Given the description of an element on the screen output the (x, y) to click on. 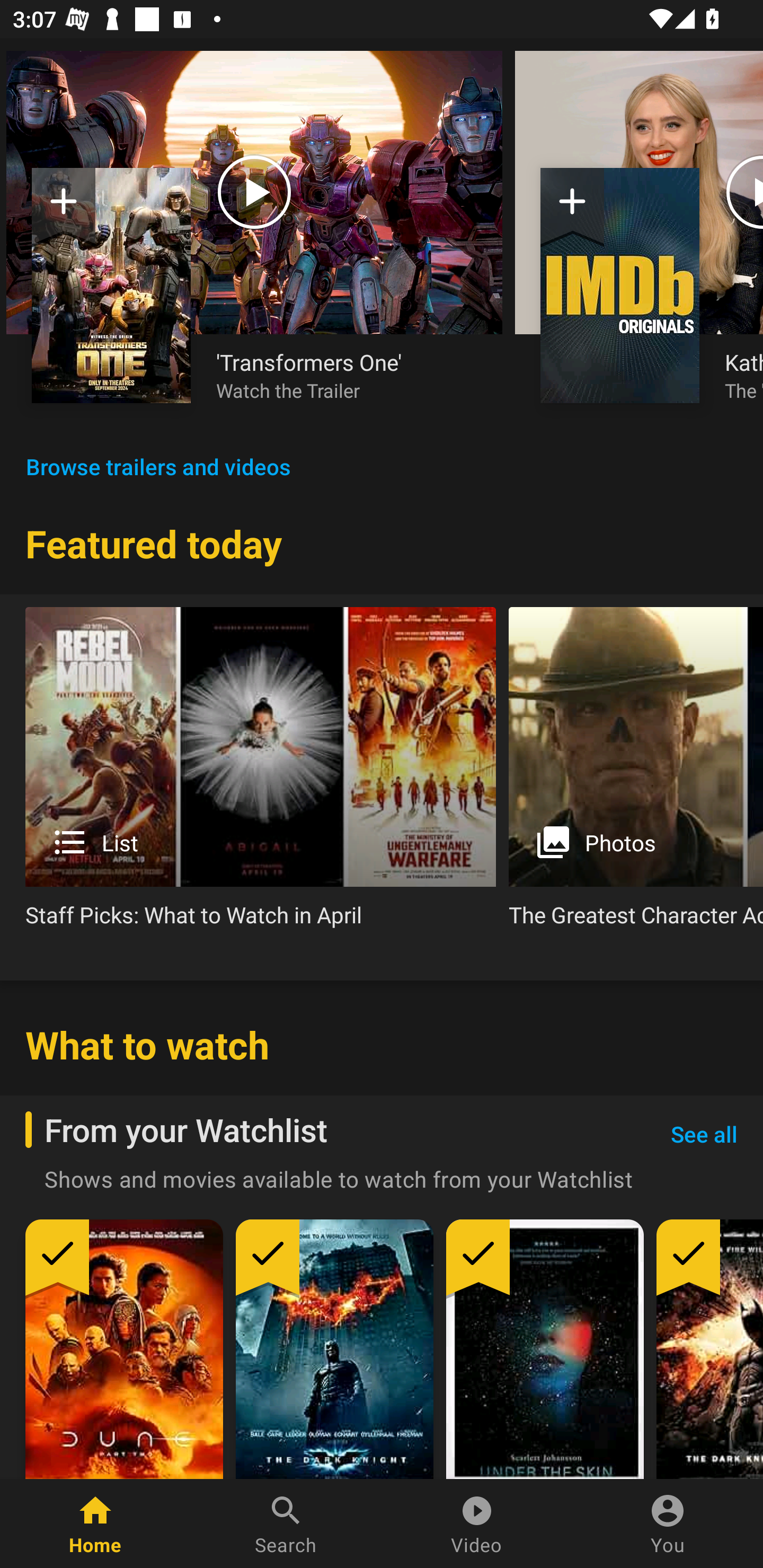
Not in watchlist (111, 284)
Not in watchlist (63, 207)
Not in watchlist (619, 284)
Not in watchlist (572, 207)
'Transformers One' Watch the Trailer (345, 374)
List Staff Picks: What to Watch in April (260, 774)
Photos The Greatest Character Actors of All Time (635, 774)
See all See all From your Watchlist (703, 1134)
Search (285, 1523)
Video (476, 1523)
You (667, 1523)
